Given the description of an element on the screen output the (x, y) to click on. 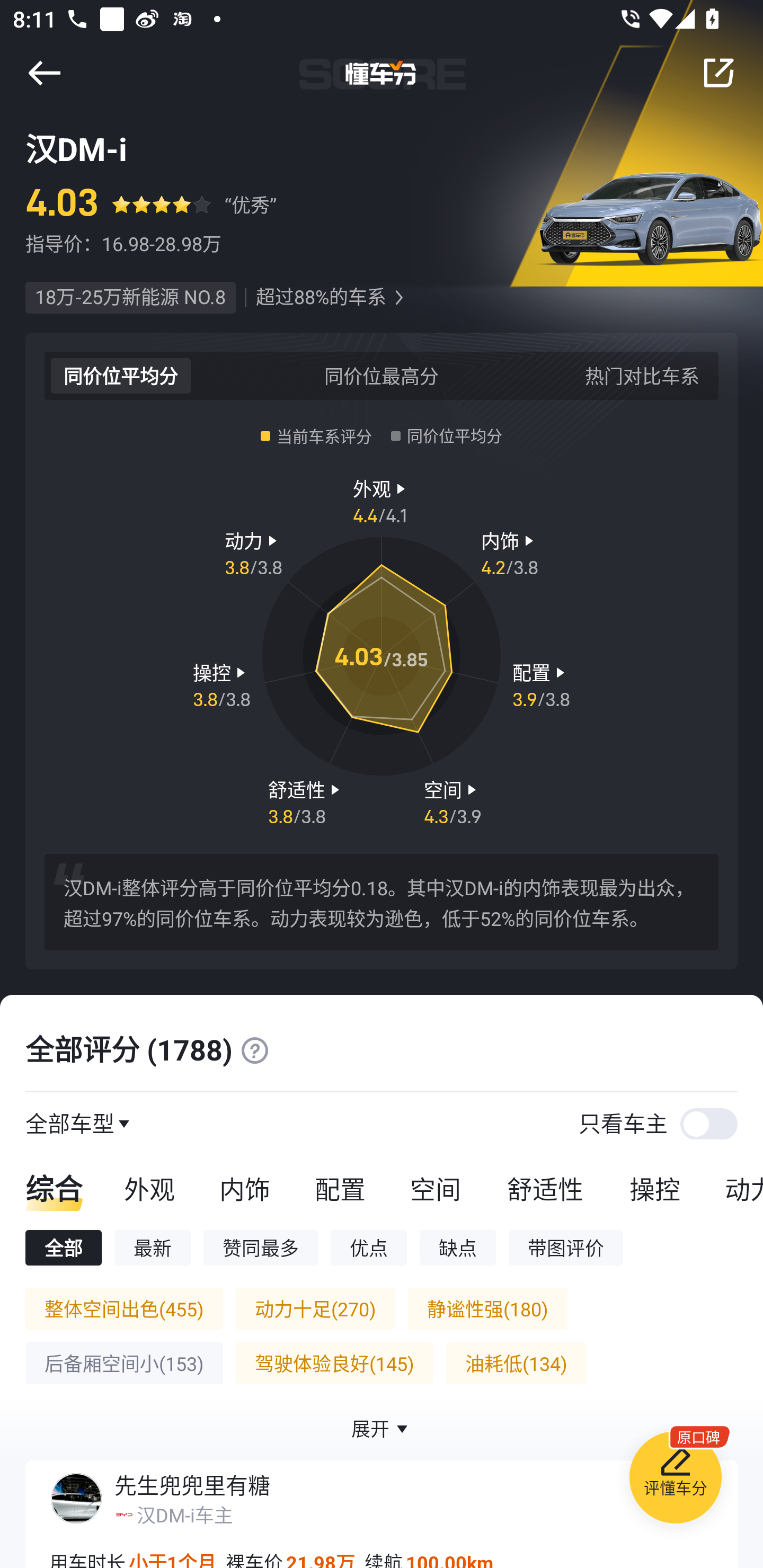
 (44, 72)
 (718, 72)
超过88%的车系 (320, 297)
 (398, 297)
同价位平均分 (120, 375)
同价位最高分 (381, 375)
热门对比车系 (641, 375)
外观  4.4 / 4.1 (381, 500)
动力  3.8 / 3.8 (253, 552)
内饰  4.2 / 3.8 (509, 552)
操控  3.8 / 3.8 (221, 685)
配置  3.9 / 3.8 (540, 685)
舒适性  3.8 / 3.8 (305, 801)
空间  4.3 / 3.9 (452, 801)
 (254, 1050)
全部车型 (69, 1123)
外观 (148, 1188)
内饰 (244, 1188)
配置 (339, 1188)
空间 (434, 1188)
舒适性 (544, 1188)
操控 (654, 1188)
全部 (63, 1247)
最新 (152, 1247)
赞同最多 (260, 1247)
优点 (368, 1247)
缺点 (457, 1247)
带图评价 (565, 1247)
整体空间出色(455) (123, 1308)
动力十足(270) (315, 1308)
静谧性强(180) (487, 1308)
后备厢空间小(153) (123, 1363)
驾驶体验良好(145) (334, 1363)
油耗低(134) (516, 1363)
展开  (381, 1428)
 评懂车分 原口碑 (675, 1480)
先生兜兜里有糖 (192, 1485)
汉DM-i车主 (184, 1514)
